Given the description of an element on the screen output the (x, y) to click on. 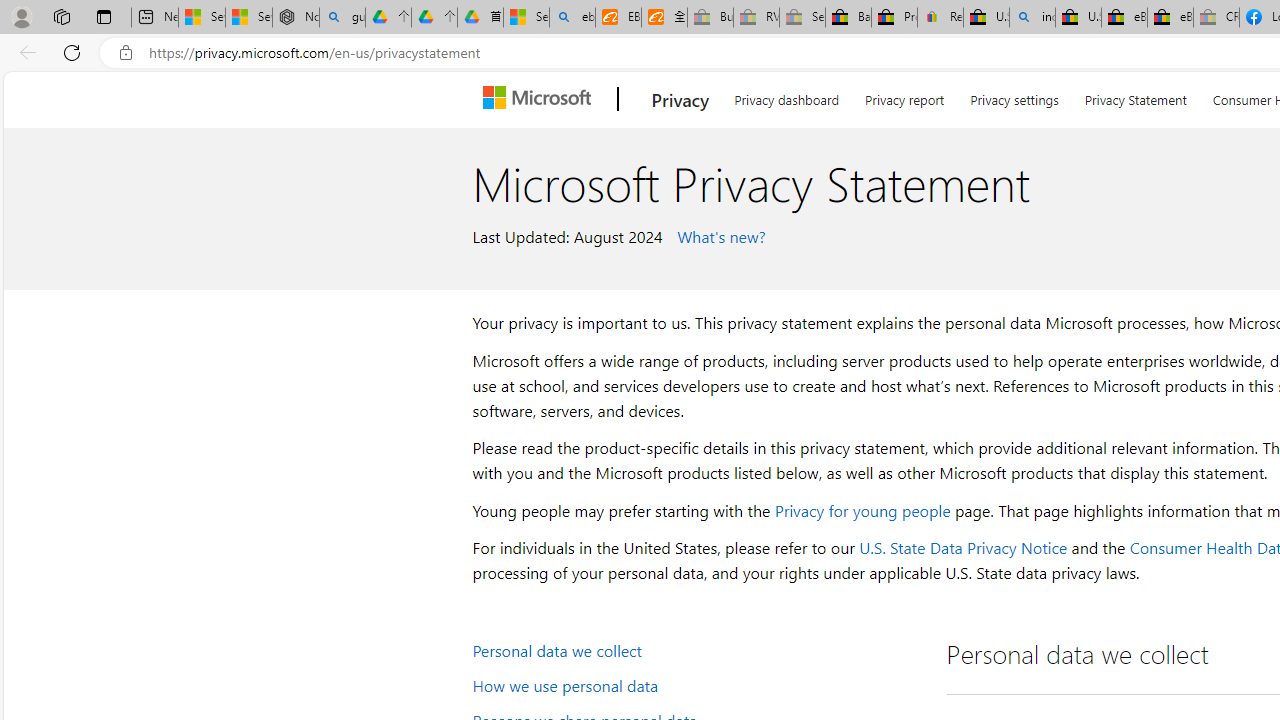
Refresh (72, 52)
Privacy Statement (1135, 96)
ebay - Search (572, 17)
U.S. State Data Privacy Notice (962, 547)
Privacy dashboard (786, 96)
Personal Profile (21, 16)
